Given the description of an element on the screen output the (x, y) to click on. 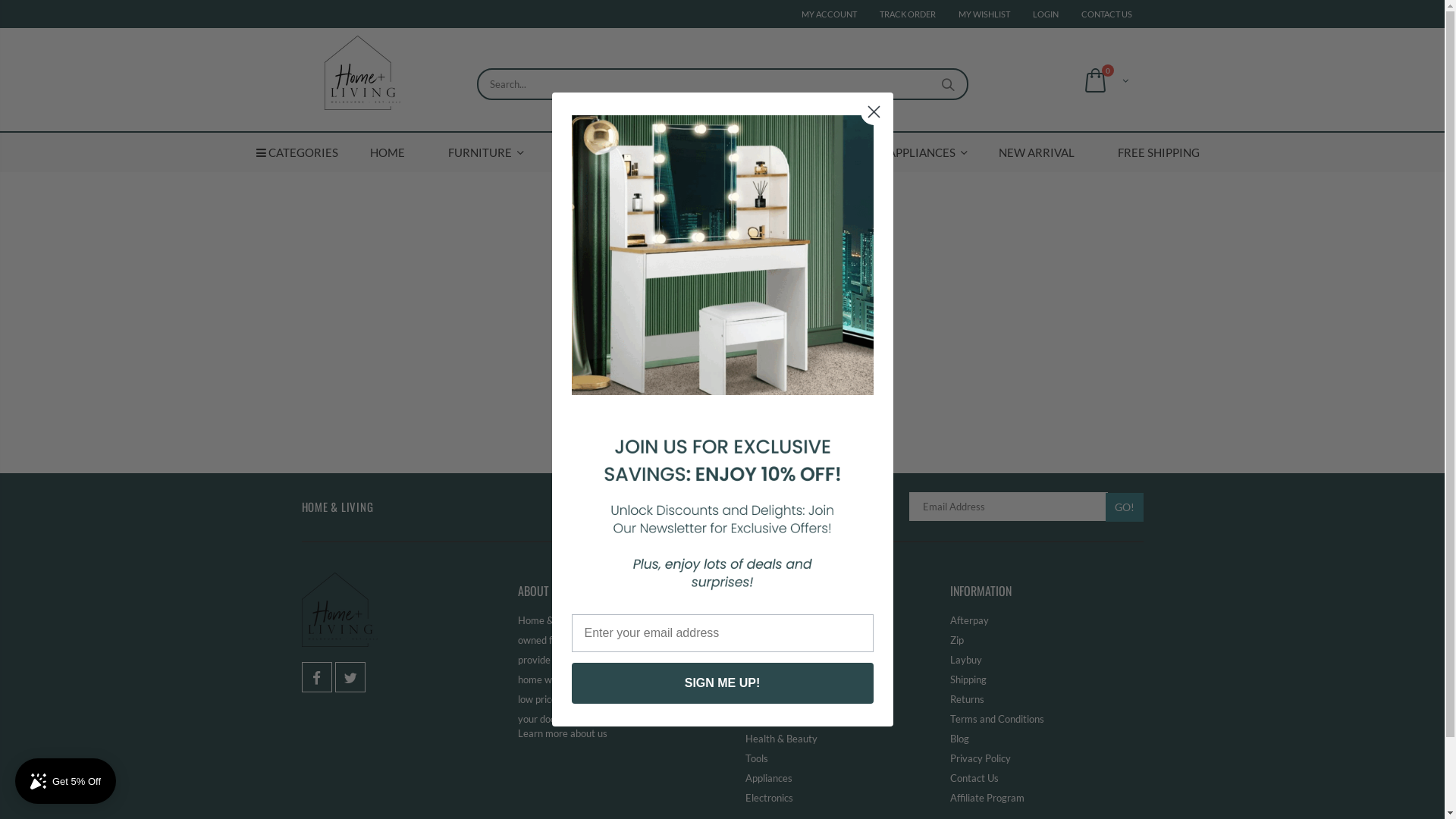
Shipping Element type: text (967, 679)
Health & Beauty Element type: text (780, 738)
Contact Us Element type: text (973, 777)
Search Element type: text (948, 83)
Returns Element type: text (966, 699)
Home & Garden Element type: text (779, 639)
here Element type: text (772, 334)
LOGIN Element type: text (1045, 13)
0 Element type: text (1102, 79)
Submit Element type: text (20, 8)
SIGN ME UP! Element type: text (722, 682)
HOME Element type: text (387, 152)
BABY & KIDS Element type: text (589, 152)
Blog Element type: text (958, 738)
Privacy Policy Element type: text (979, 758)
APPLIANCES Element type: text (921, 152)
Electronics Element type: text (768, 797)
Go! Element type: text (1124, 506)
FURNITURE Element type: text (479, 152)
Appliances Element type: text (767, 777)
FREE SHIPPING Element type: text (1158, 152)
TRACK ORDER Element type: text (907, 13)
NEW ARRIVAL Element type: text (1036, 152)
Baby & Kids Element type: text (770, 659)
Learn more about us Element type: text (561, 733)
Affiliate Program Element type: text (986, 797)
CATEGORIES Element type: text (297, 152)
CONTACT US Element type: text (1106, 13)
Pet Care Element type: text (763, 679)
Afterpay Element type: text (968, 620)
Laybuy Element type: text (965, 659)
MY ACCOUNT Element type: text (828, 13)
Tools Element type: text (755, 758)
Furniture Element type: text (764, 620)
ELECTRONICS Element type: text (704, 152)
MY WISHLIST Element type: text (984, 13)
Sports & Fitness Element type: text (779, 718)
Terms and Conditions Element type: text (996, 718)
Zip Element type: text (956, 639)
Outdoor Element type: text (762, 699)
OUTDOOR Element type: text (815, 152)
